Given the description of an element on the screen output the (x, y) to click on. 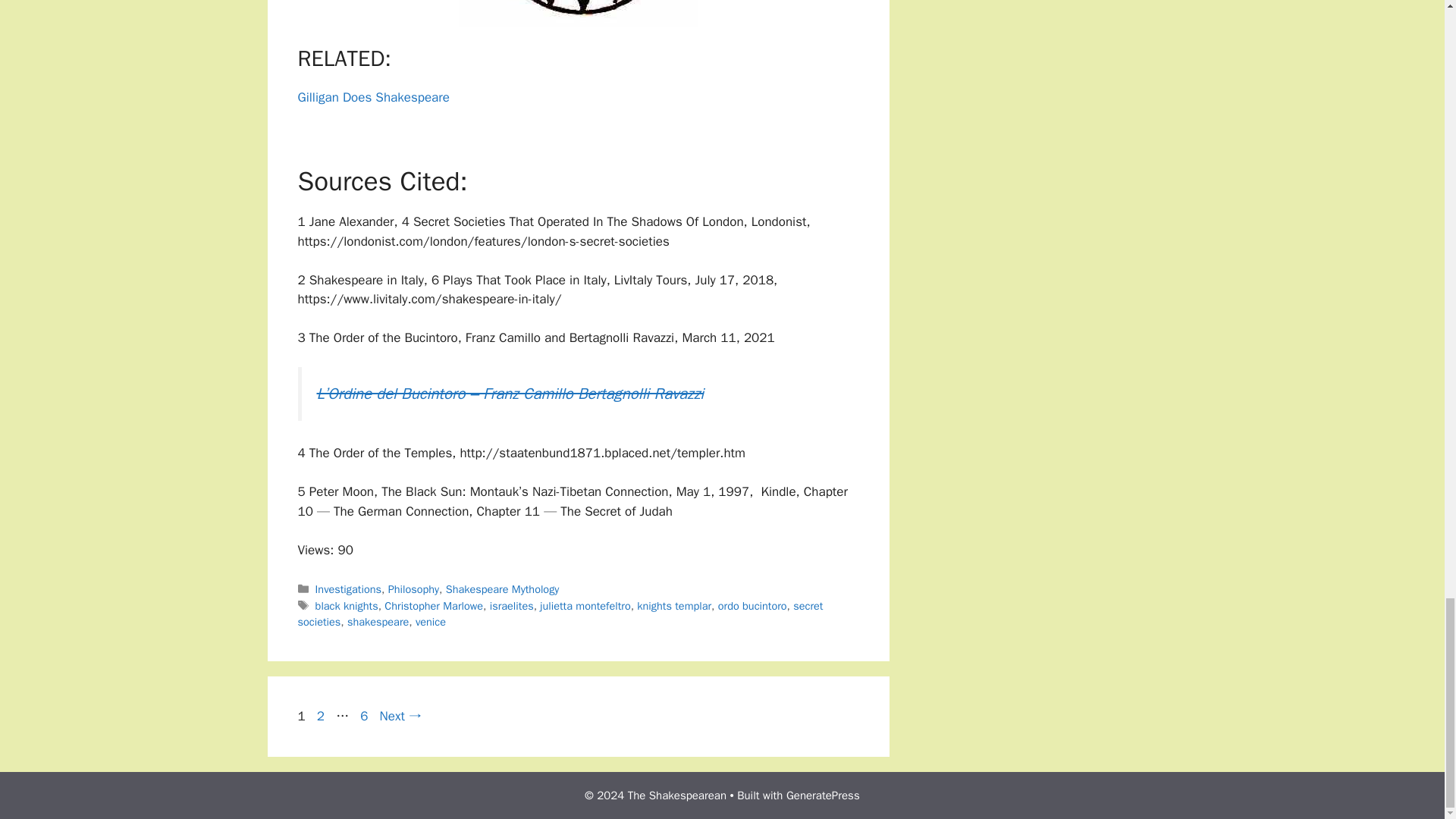
secret societies (321, 715)
shakespeare (559, 613)
Investigations (378, 621)
black knights (348, 589)
israelites (346, 605)
knights templar (511, 605)
venice (674, 605)
julietta montefeltro (429, 621)
Gilligan Does Shakespeare (585, 605)
